Given the description of an element on the screen output the (x, y) to click on. 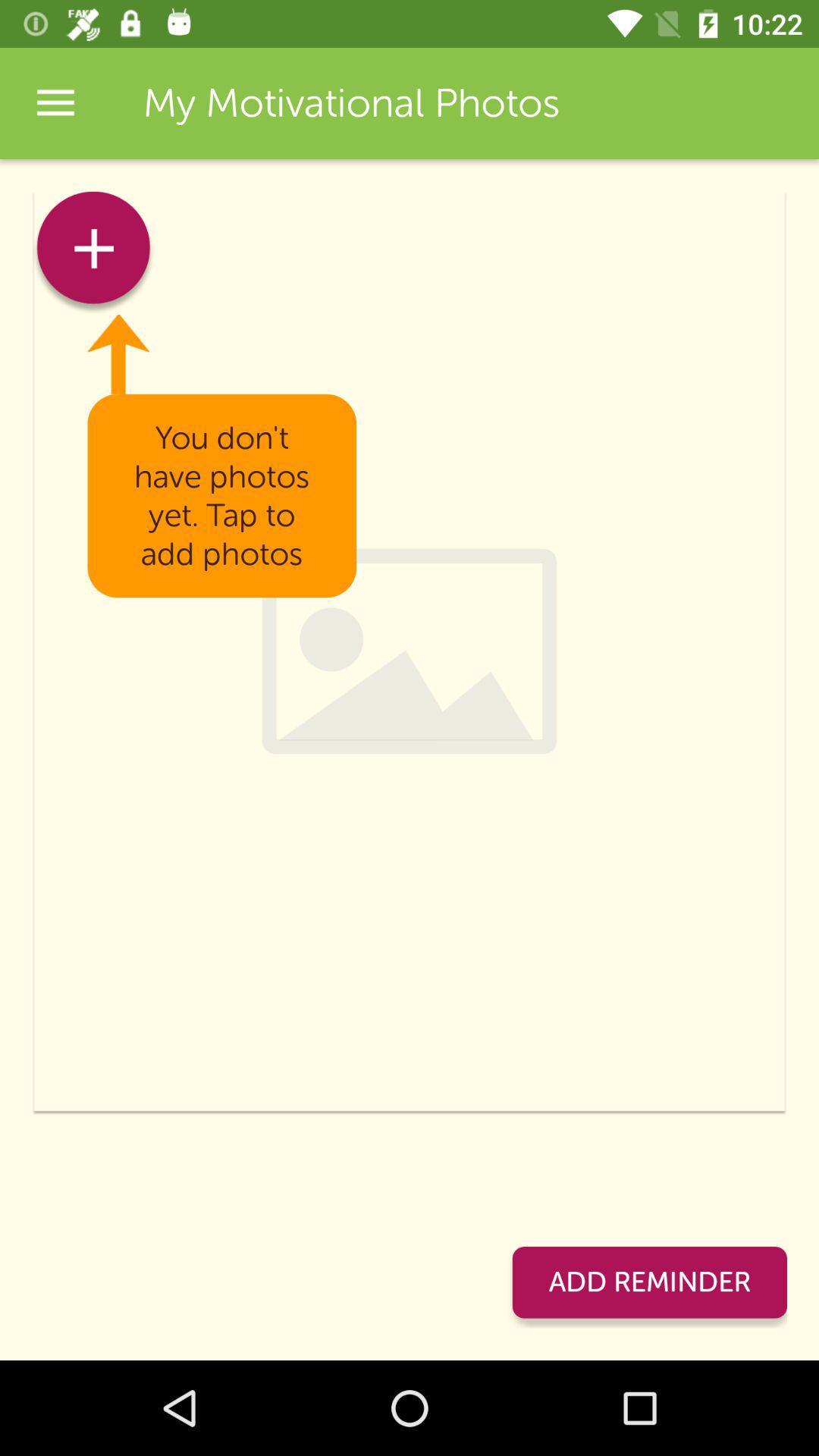
press item at the bottom right corner (649, 1282)
